Given the description of an element on the screen output the (x, y) to click on. 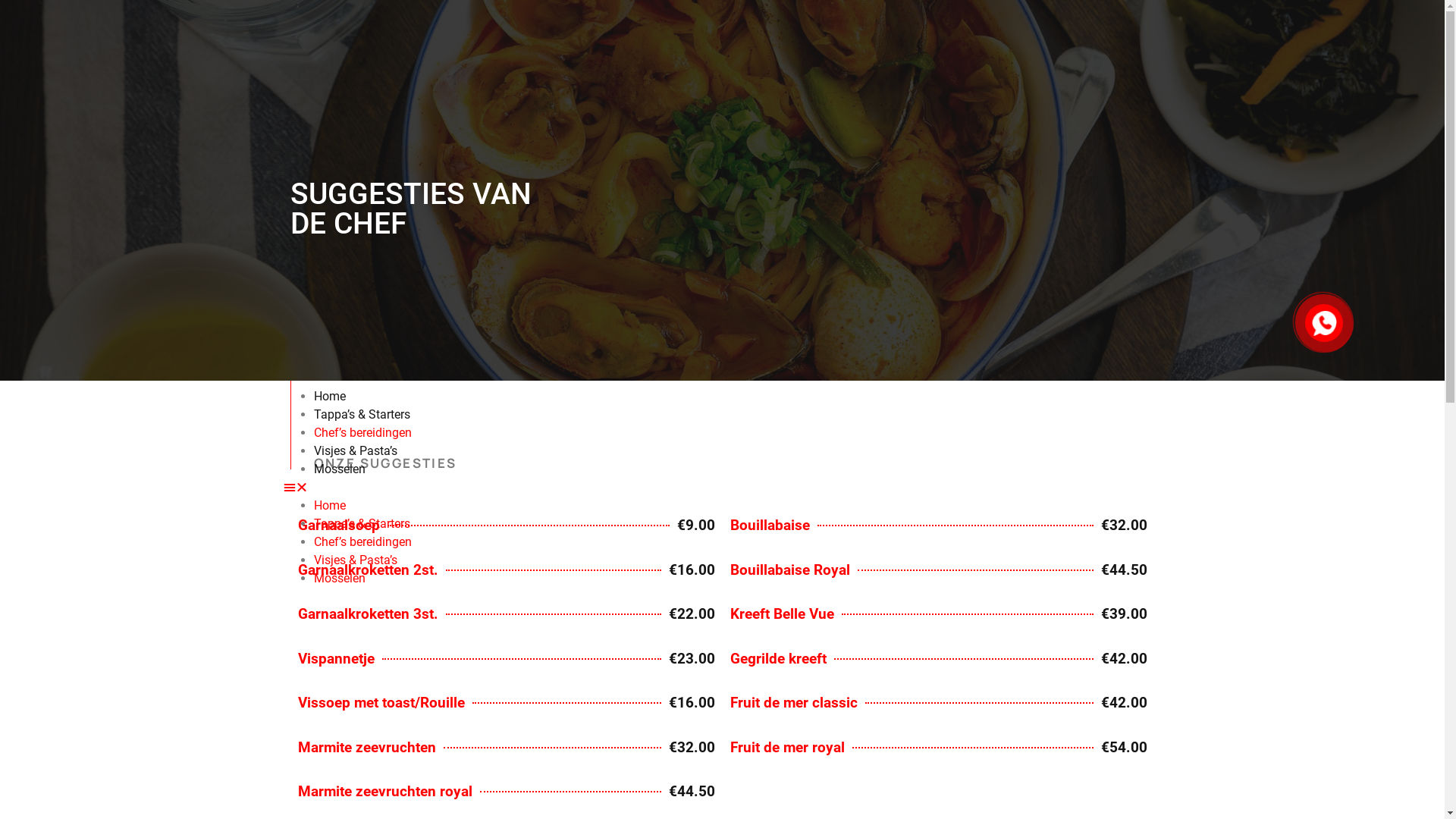
Home Element type: text (329, 505)
Mosselen Element type: text (339, 578)
Home Element type: text (329, 396)
Mosselen Element type: text (339, 468)
